Given the description of an element on the screen output the (x, y) to click on. 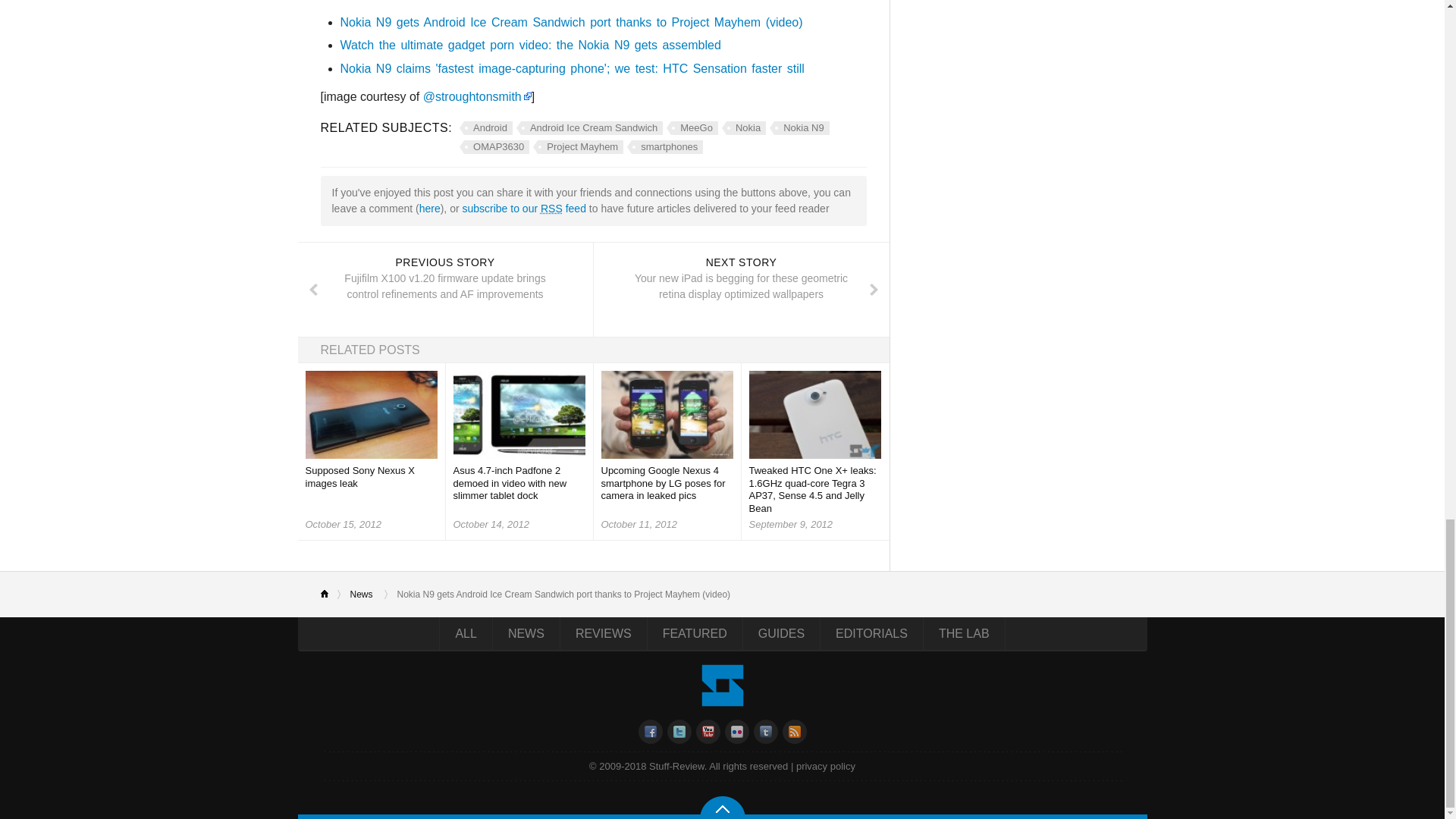
Android Ice Cream Sandwich (589, 128)
smartphones (665, 146)
subscribe to our RSS feed (523, 208)
MeeGo (691, 128)
Nokia N9 (799, 128)
Project Mayhem (577, 146)
Nokia (743, 128)
here (430, 208)
Syndicate this site using RSS (523, 208)
Android (486, 128)
Really Simple Syndication (551, 208)
